Given the description of an element on the screen output the (x, y) to click on. 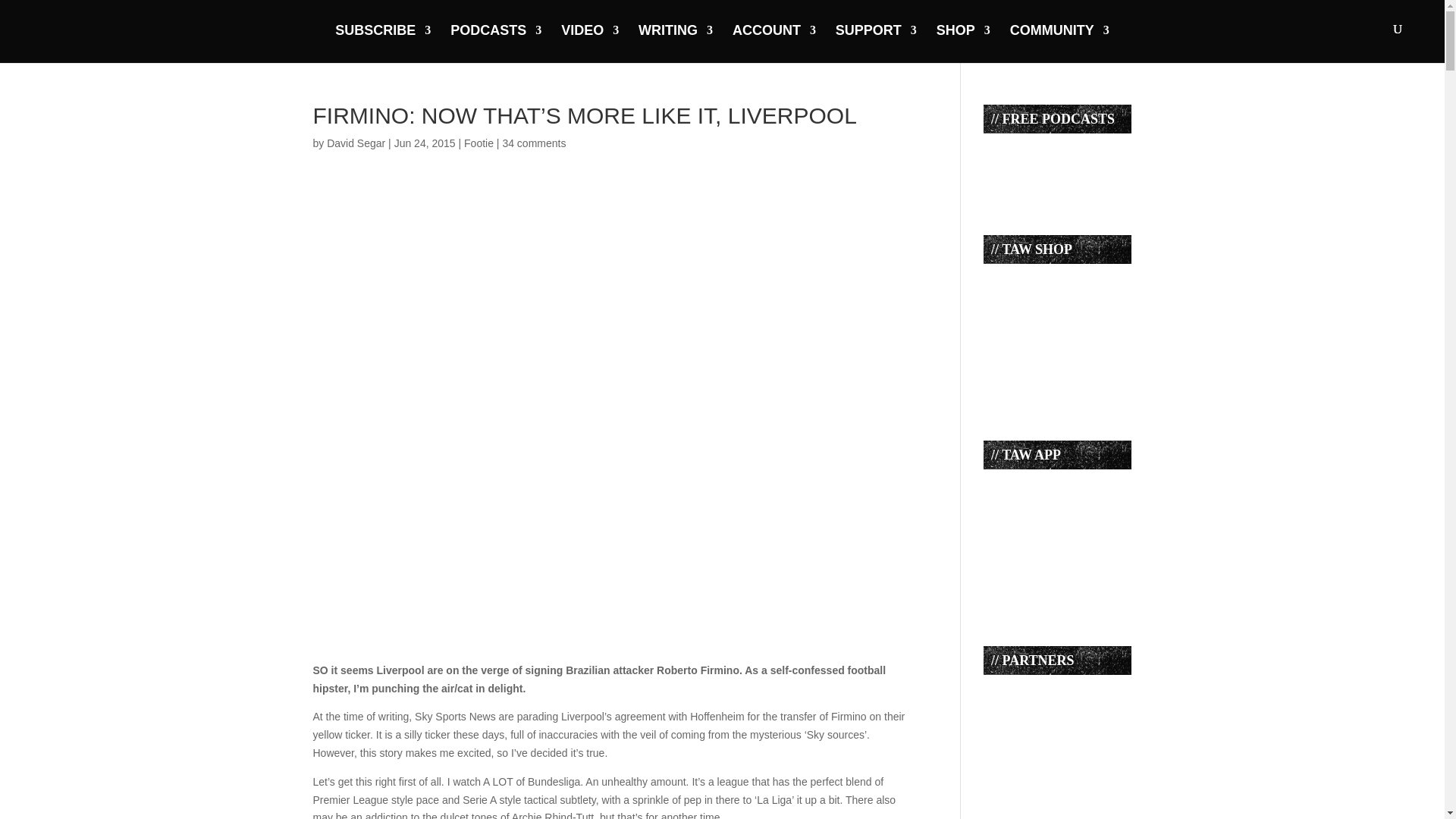
SHOP (963, 42)
ACCOUNT (773, 42)
SUBSCRIBE (382, 42)
PODCASTS (495, 42)
SUPPORT (876, 42)
VIDEO (589, 42)
Posts by David Segar (355, 143)
WRITING (676, 42)
COMMUNITY (1059, 42)
